Given the description of an element on the screen output the (x, y) to click on. 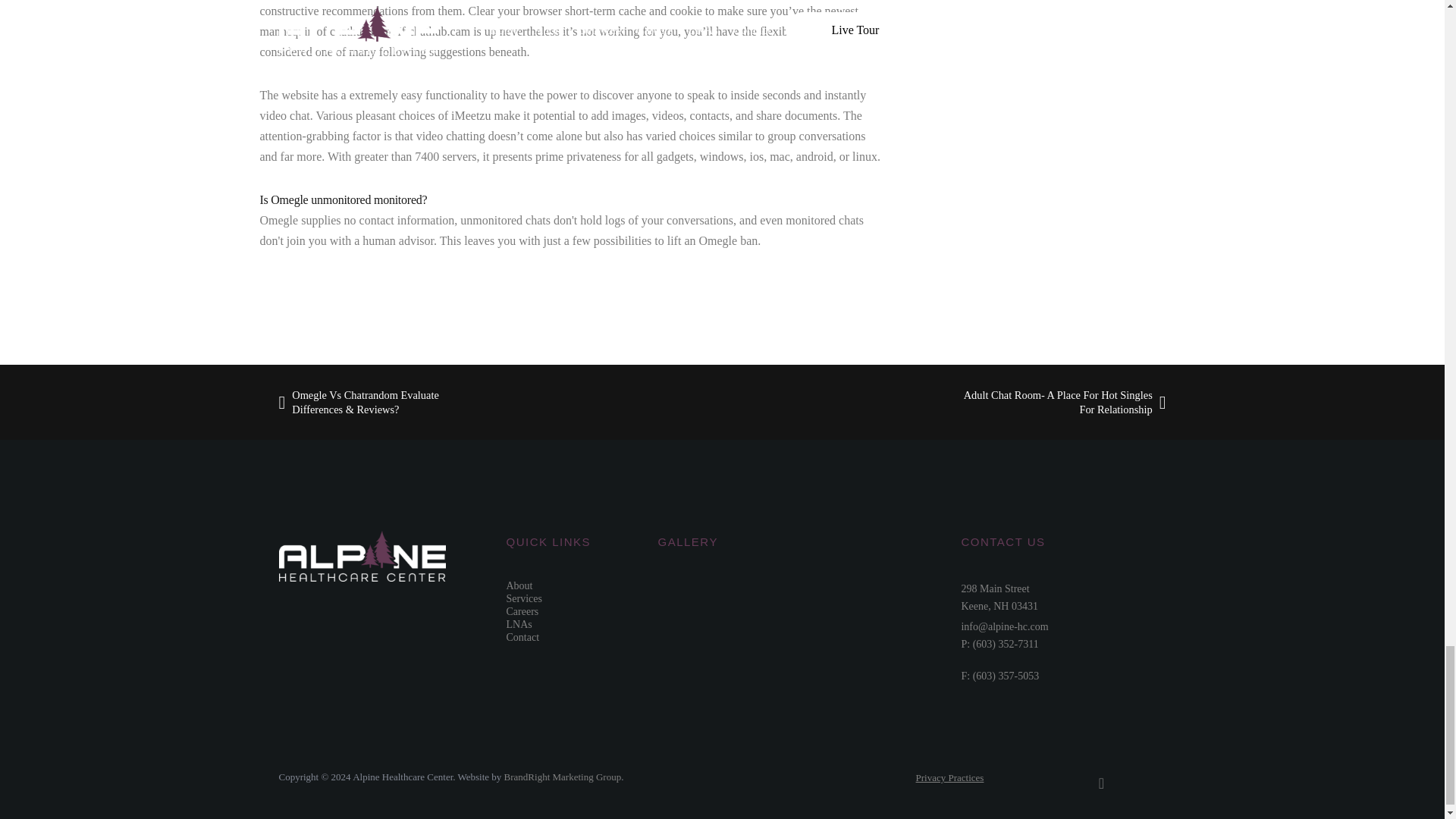
Careers (522, 611)
Contact (523, 636)
About (519, 585)
LNAs (519, 624)
Services (998, 597)
Privacy Practices (523, 598)
Adult Chat Room- A Place For Hot Singles For Relationship (949, 777)
BrandRight Marketing Group (1054, 402)
